Given the description of an element on the screen output the (x, y) to click on. 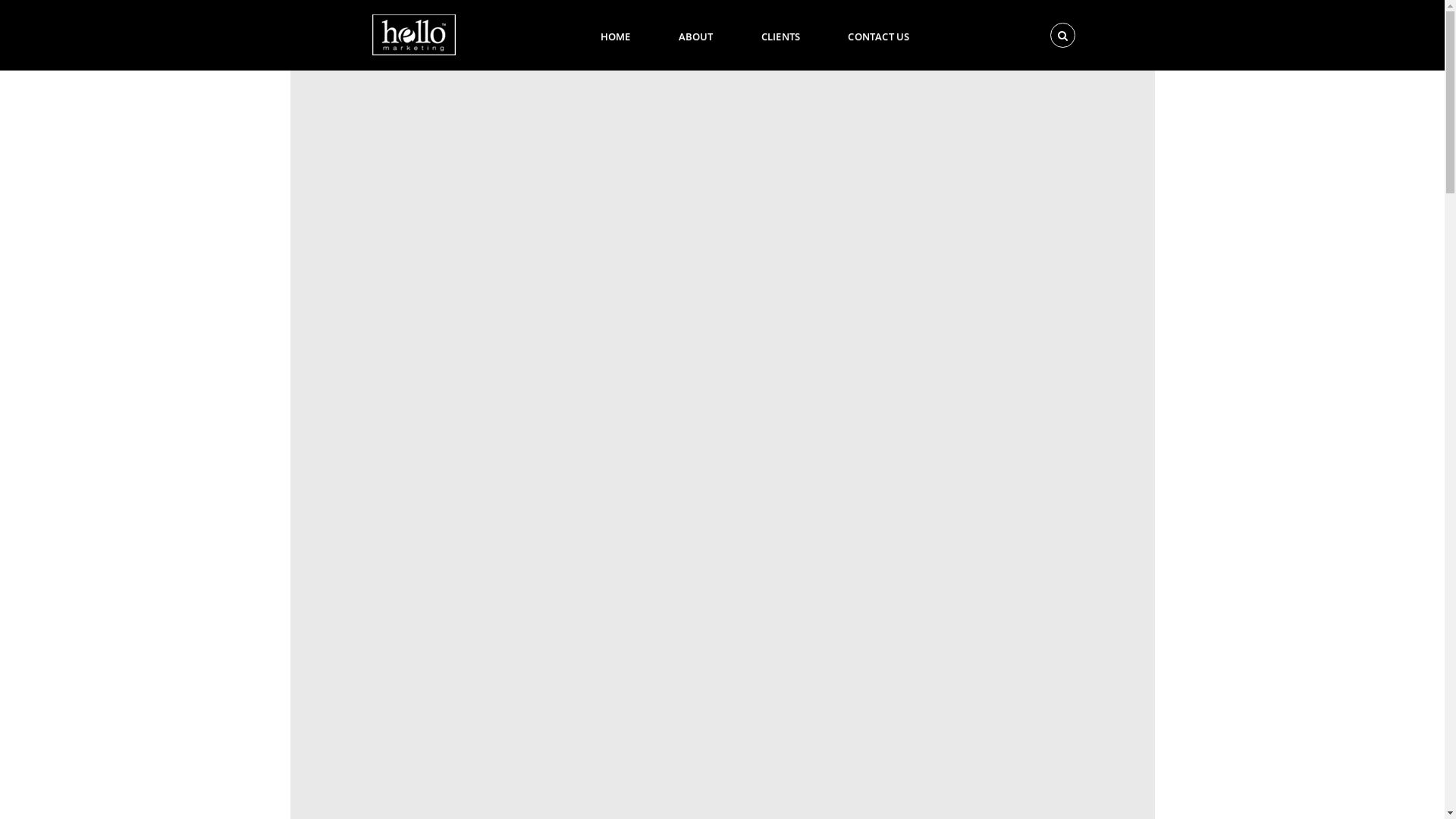
CONTACT US Element type: text (878, 35)
ABOUT Element type: text (695, 35)
CLIENTS Element type: text (780, 35)
HOME Element type: text (615, 35)
